Given the description of an element on the screen output the (x, y) to click on. 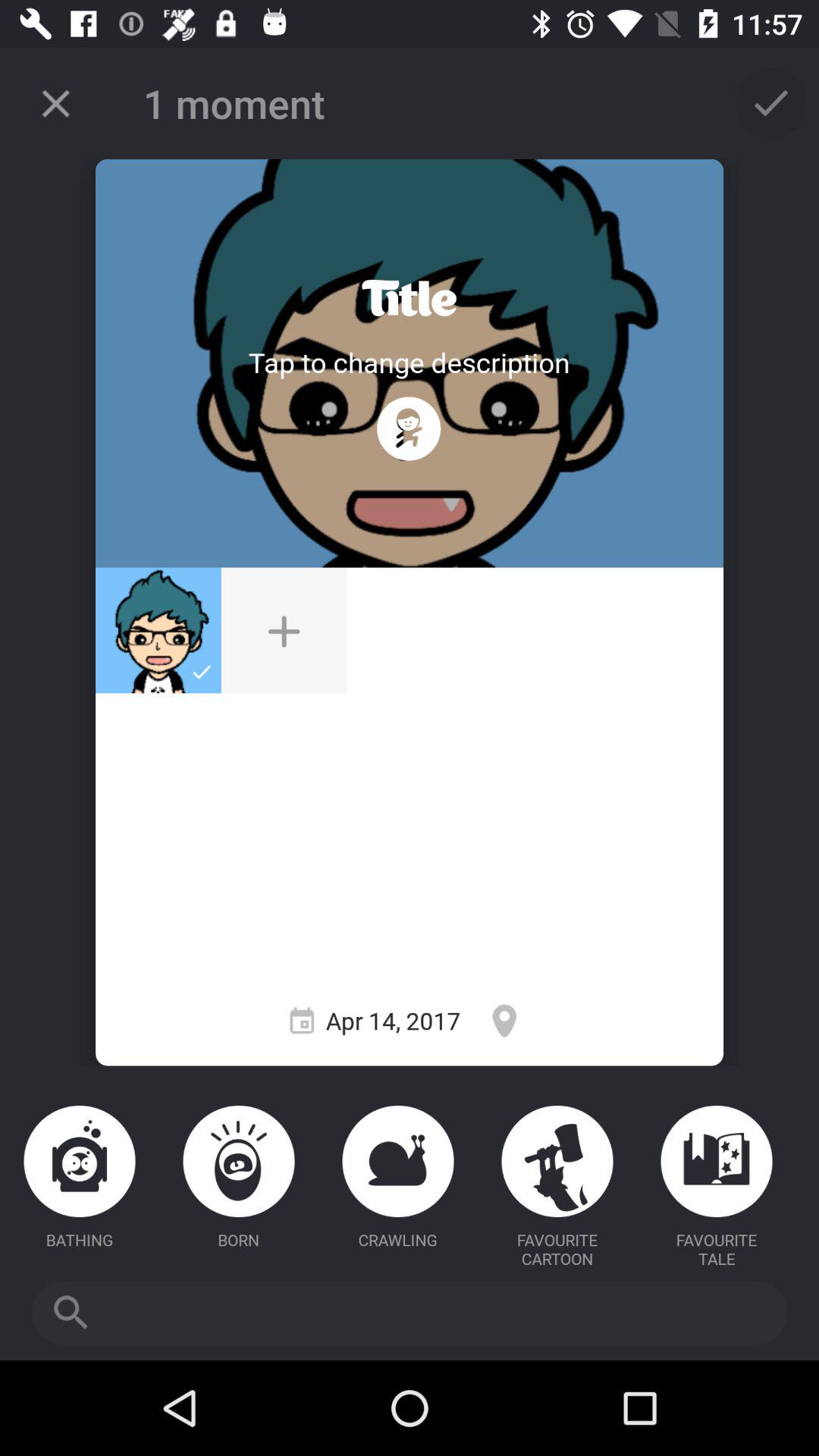
launch the item above apr 14, 2017 icon (283, 630)
